Given the description of an element on the screen output the (x, y) to click on. 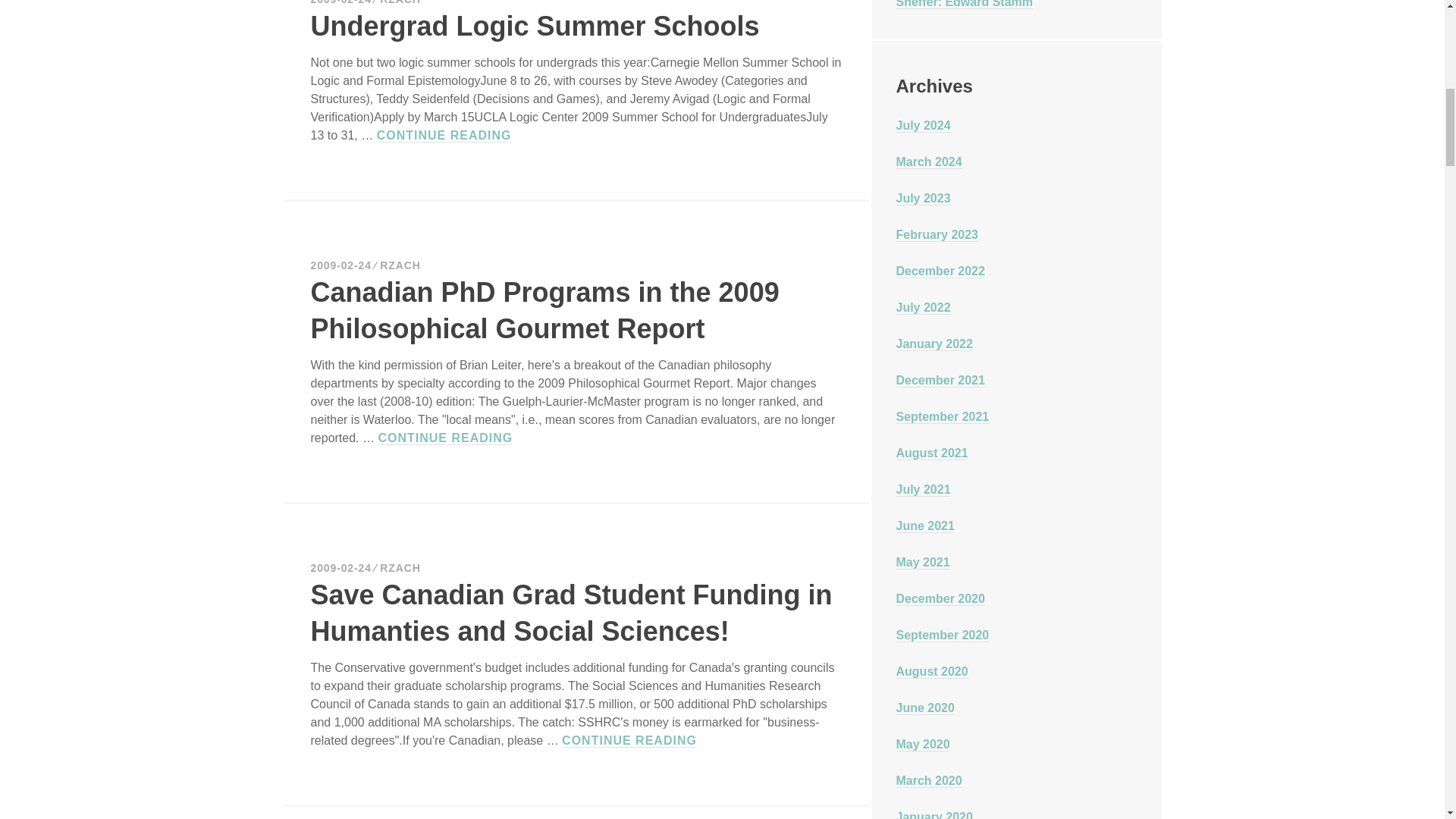
2009-02-24 (341, 2)
2009-02-24 (341, 265)
RZACH (400, 265)
Undergrad Logic Summer Schools (535, 25)
RZACH (400, 2)
